Given the description of an element on the screen output the (x, y) to click on. 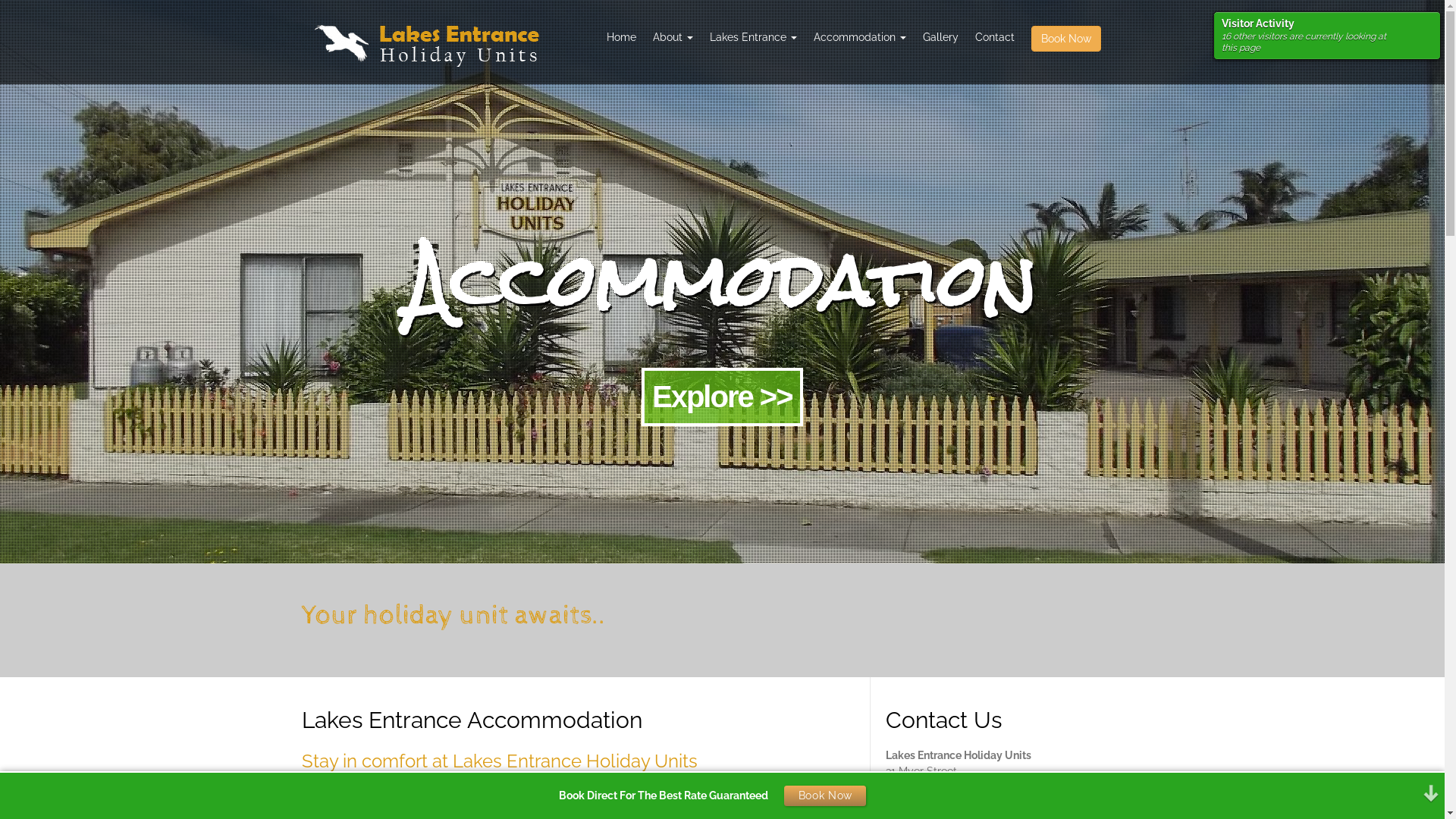
Home Element type: text (620, 36)
Accommodation Element type: text (859, 36)
Explore >> Element type: text (722, 396)
About Element type: text (672, 36)
Gallery Element type: text (940, 36)
Book Now Element type: text (1065, 40)
Lakes Entrance Element type: text (752, 36)
Contact Element type: text (994, 36)
